Given the description of an element on the screen output the (x, y) to click on. 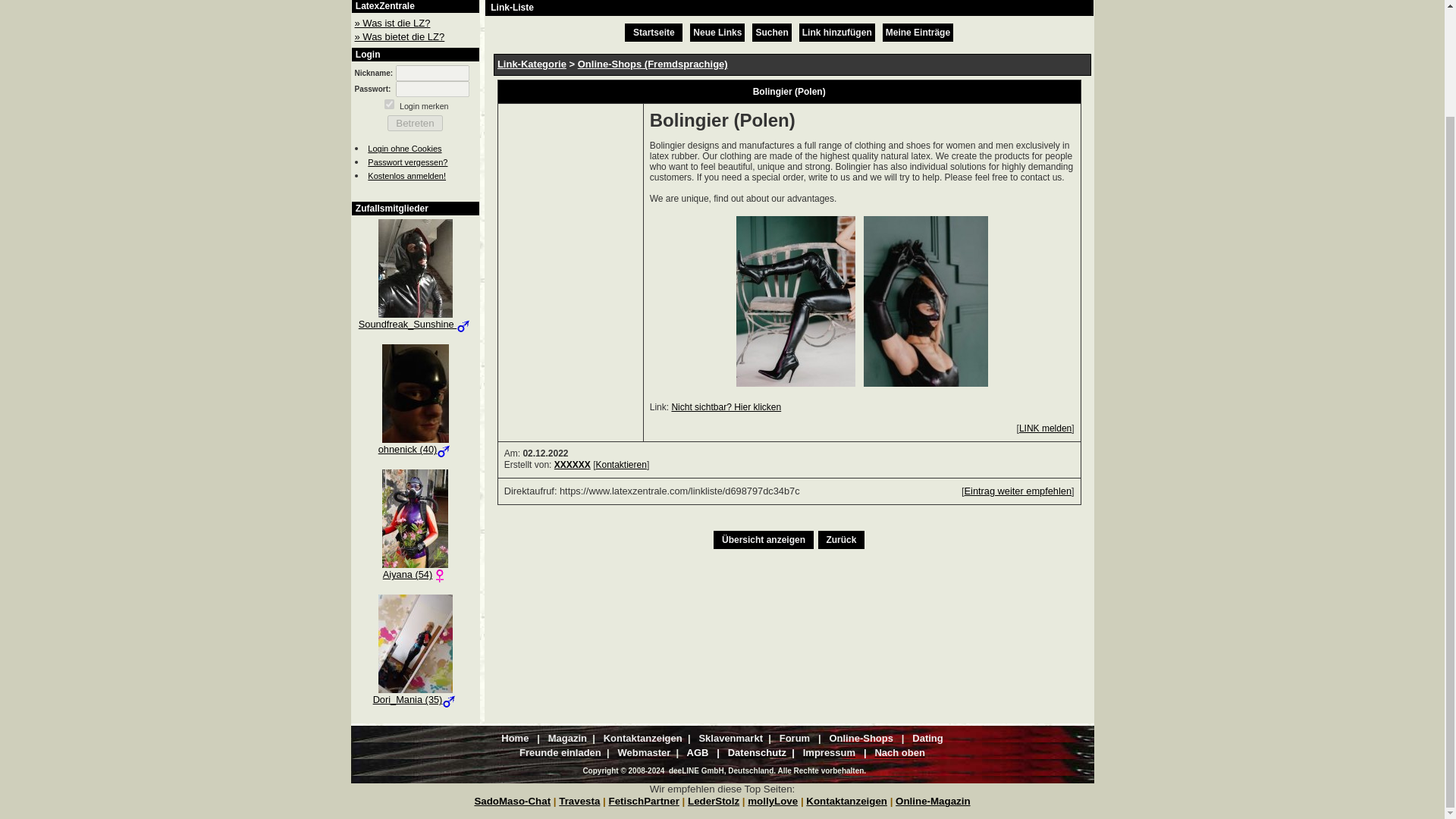
 Betreten  (415, 123)
Startseite (654, 32)
Login ohne Cookies (404, 147)
Passwort vergessen? (407, 161)
yes (389, 103)
Kostenlos anmelden! (406, 174)
 Betreten  (415, 123)
Link-Kategorie (531, 63)
Neue Links (717, 32)
Suchen (771, 32)
